Given the description of an element on the screen output the (x, y) to click on. 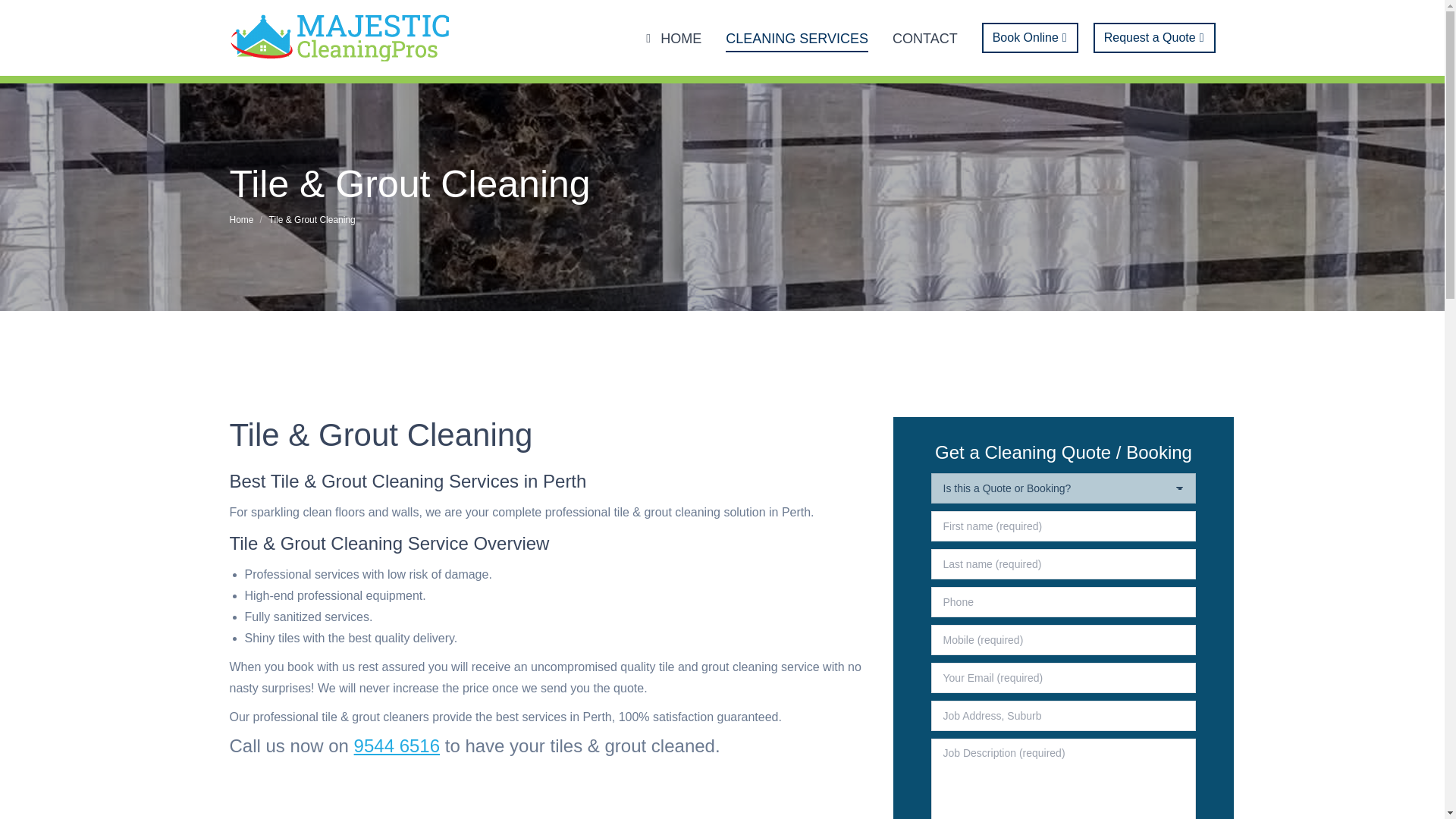
9544 6516 (396, 745)
Book Online (1029, 37)
HOME (670, 37)
Home (240, 219)
CONTACT (924, 37)
Request a Quote (1154, 37)
Home (240, 219)
CLEANING SERVICES (796, 37)
